Given the description of an element on the screen output the (x, y) to click on. 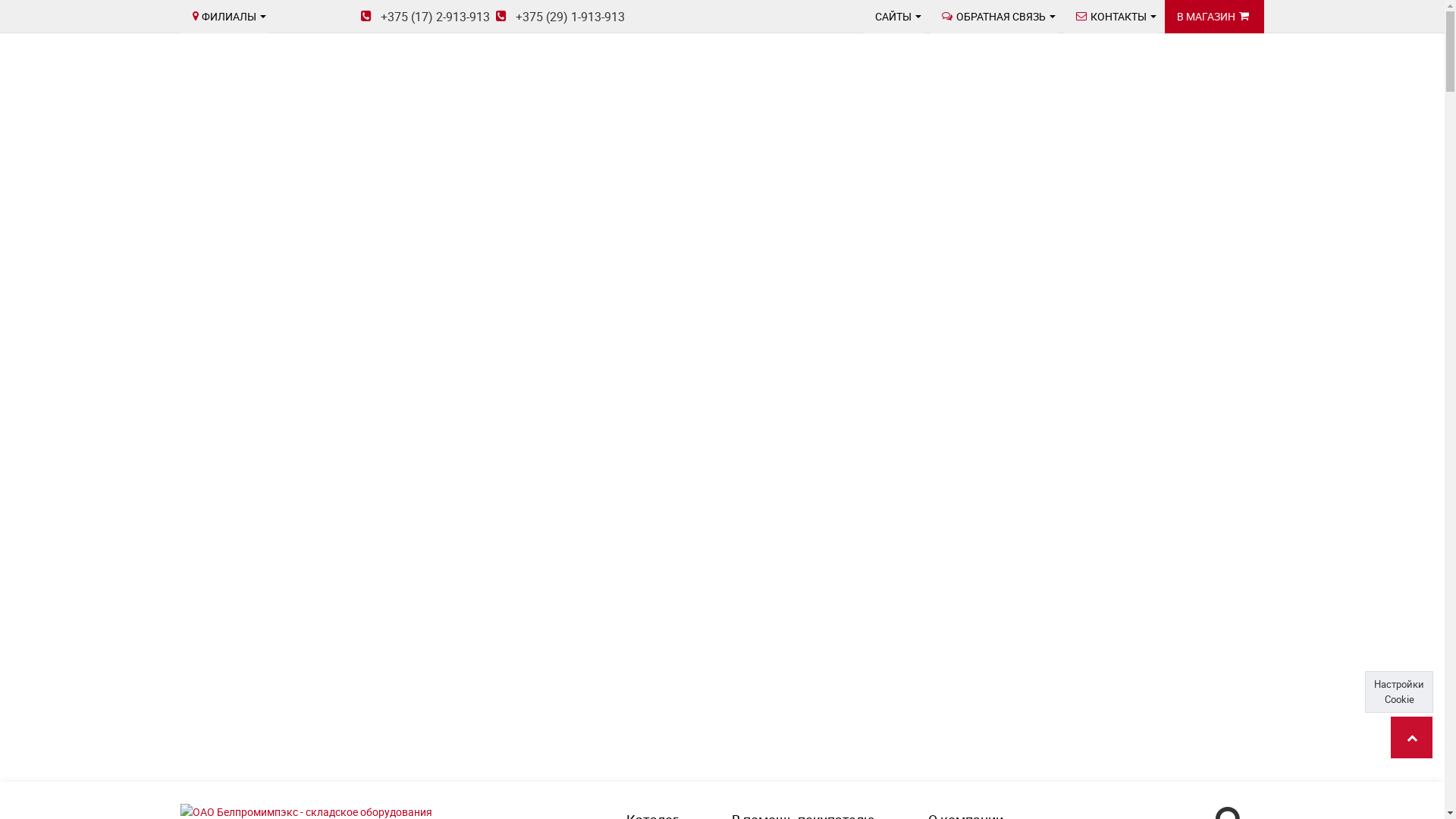
+375 (17) 2-913-913 Element type: text (424, 16)
+375 (29) 1-913-913 Element type: text (559, 16)
